Given the description of an element on the screen output the (x, y) to click on. 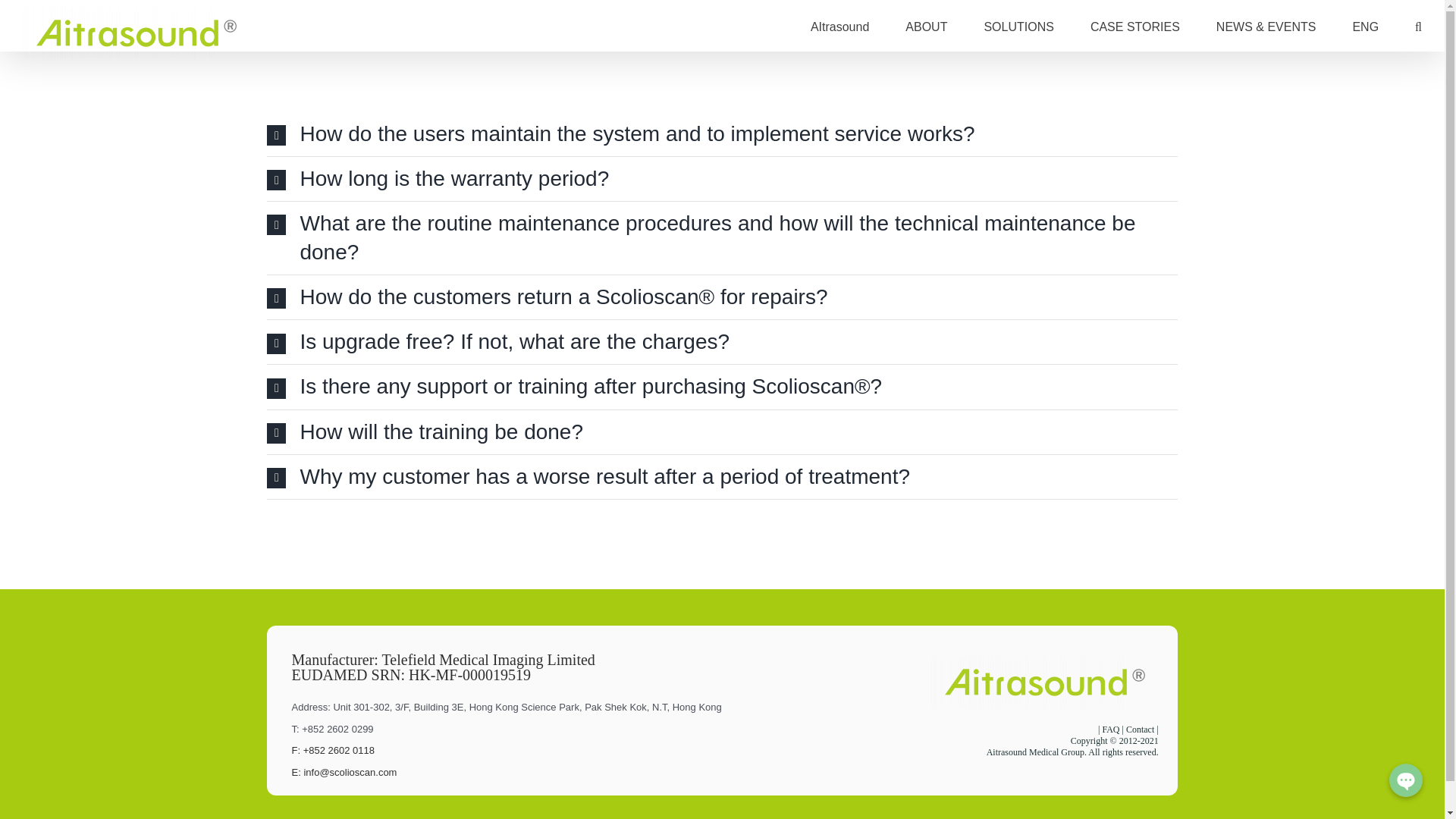
Landing page (1265, 25)
SOLUTIONS (1018, 25)
ENG (1365, 25)
CASE STORIES (1134, 25)
Search (1418, 25)
Landing page (1018, 25)
ABOUT (926, 25)
ENG (1365, 25)
Home page (839, 25)
AItrasound (839, 25)
Landing page (926, 25)
